Given the description of an element on the screen output the (x, y) to click on. 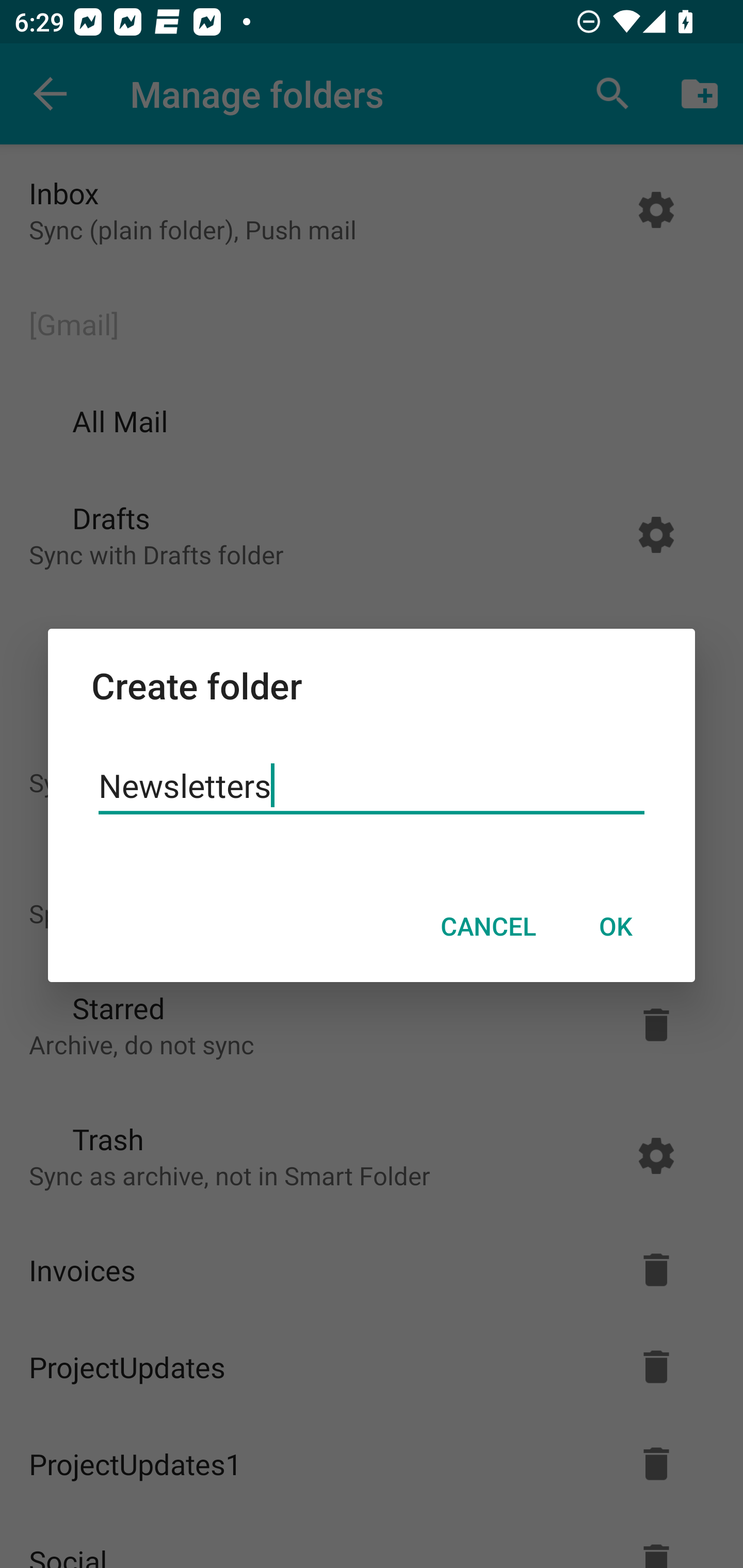
Newsletters (371, 785)
CANCEL (488, 926)
OK (615, 926)
